Given the description of an element on the screen output the (x, y) to click on. 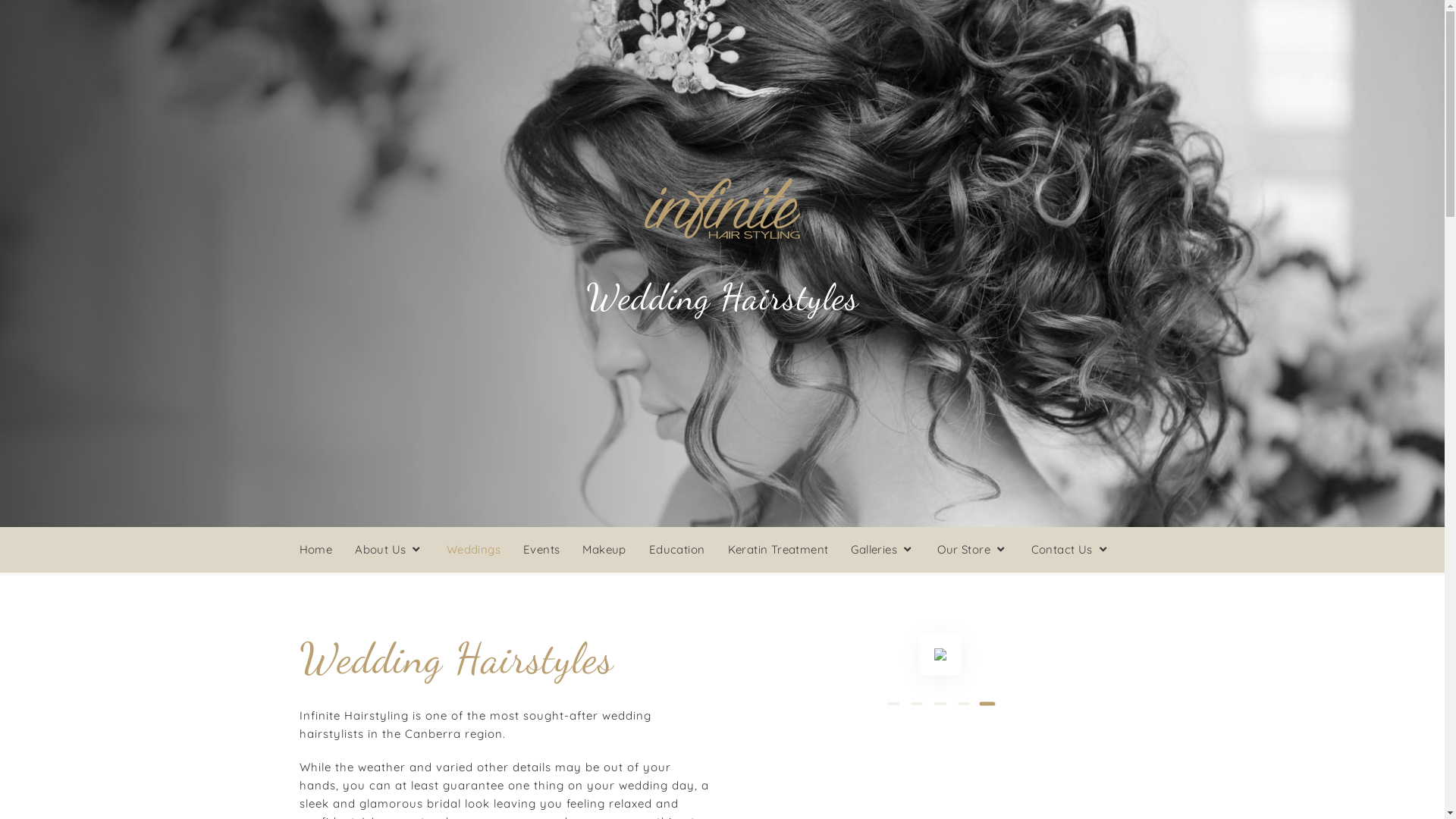
Keratin Treatment Element type: text (777, 549)
Education Element type: text (676, 549)
Weddings Element type: text (473, 549)
Makeup Element type: text (604, 549)
Events Element type: text (541, 549)
Galleries Element type: text (882, 549)
About Us Element type: text (389, 549)
Our Store Element type: text (972, 549)
Home Element type: text (320, 549)
Contact Us Element type: text (1070, 549)
